Given the description of an element on the screen output the (x, y) to click on. 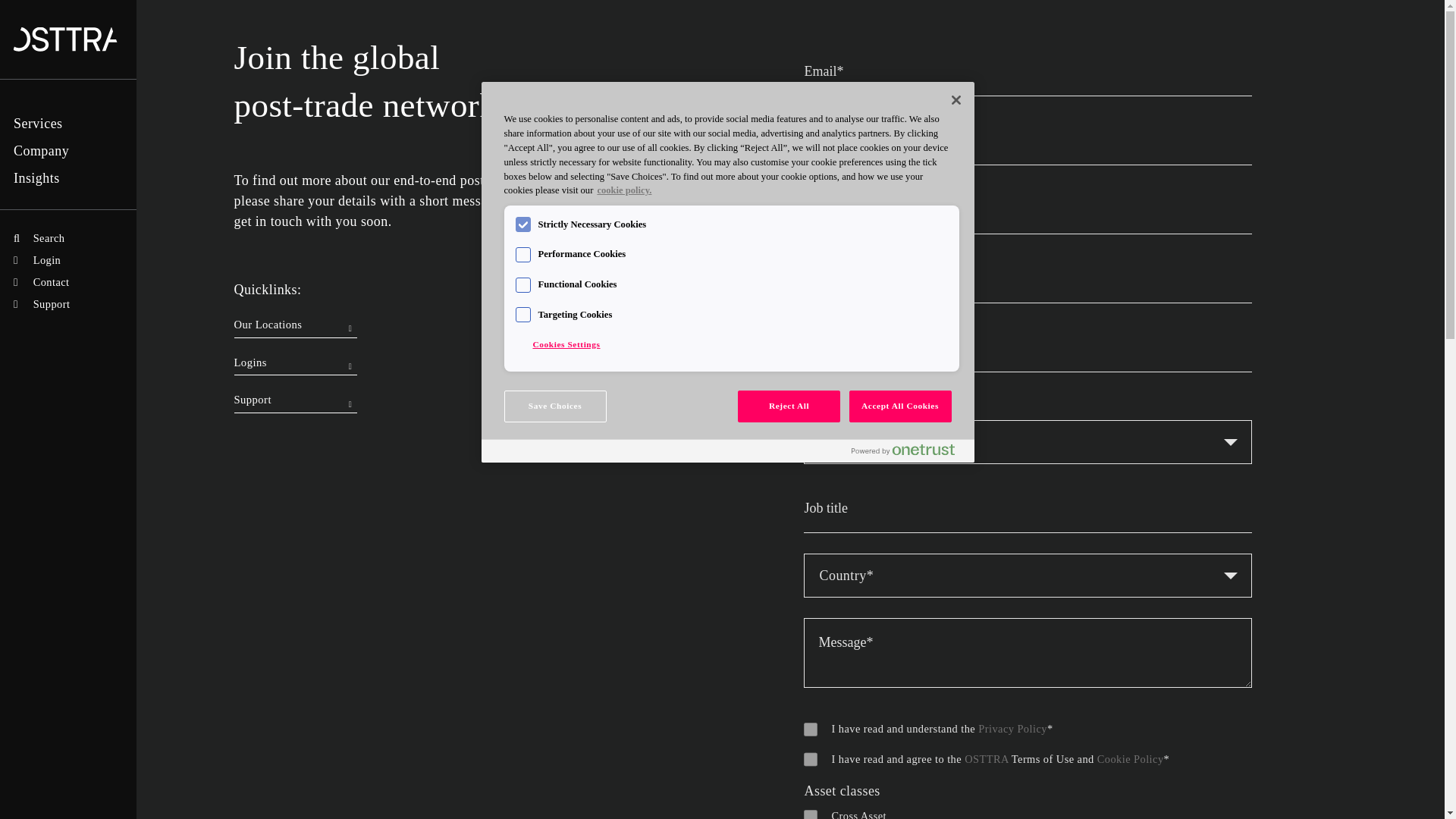
Support (41, 304)
Search (39, 237)
Contact (41, 282)
Cross Asset (809, 813)
Company (40, 150)
Services (37, 123)
Login (37, 259)
Powered by OneTrust Opens in a new Tab (901, 449)
Insights (36, 177)
